Given the description of an element on the screen output the (x, y) to click on. 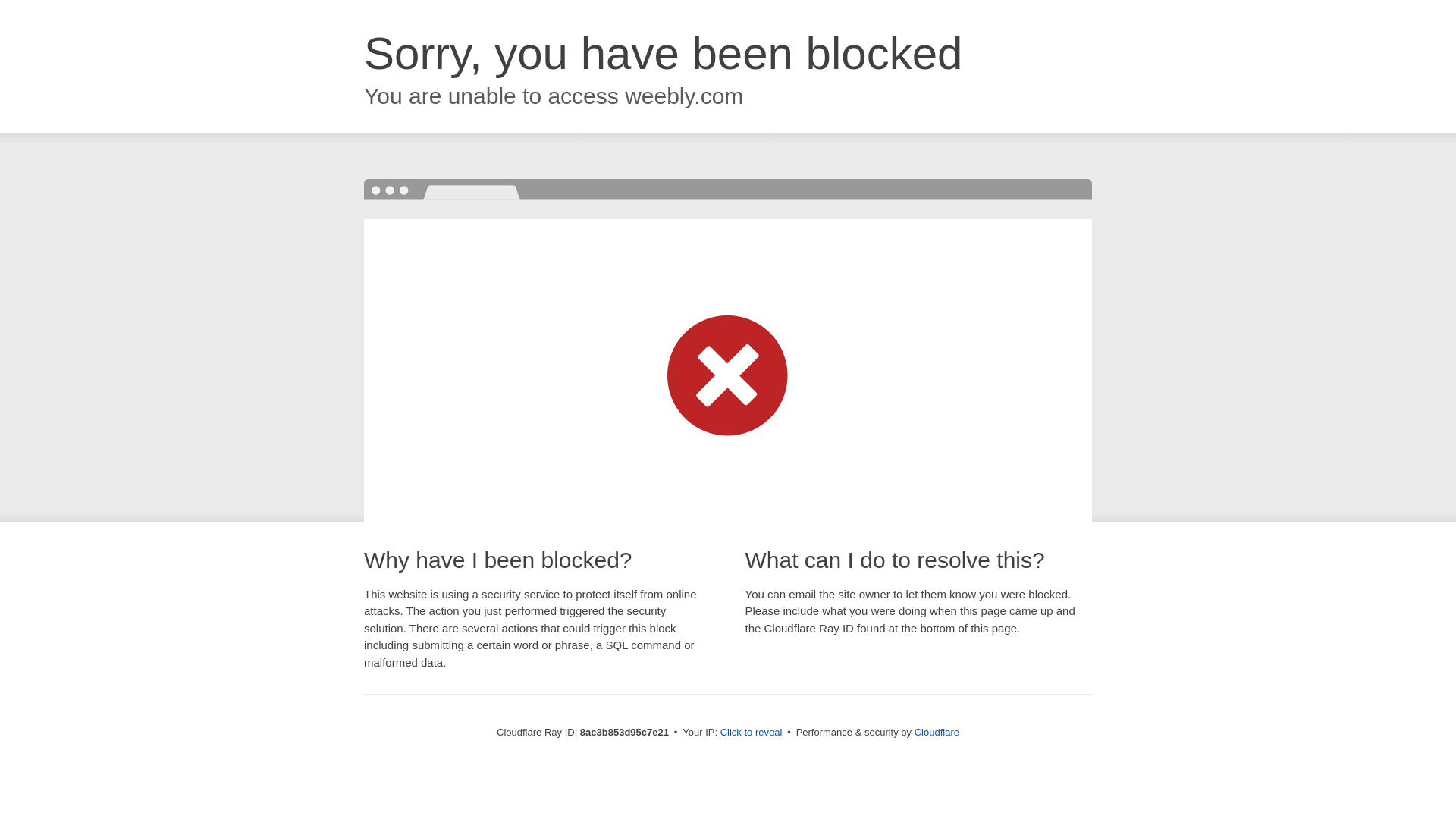
Click to reveal (751, 732)
Cloudflare (936, 731)
